Given the description of an element on the screen output the (x, y) to click on. 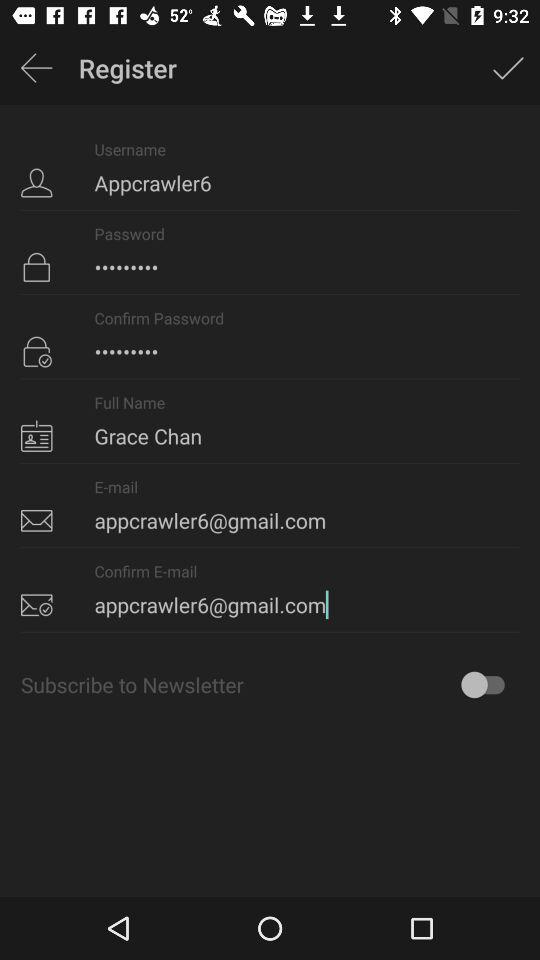
open icon above the appcrawler6 item (36, 68)
